Given the description of an element on the screen output the (x, y) to click on. 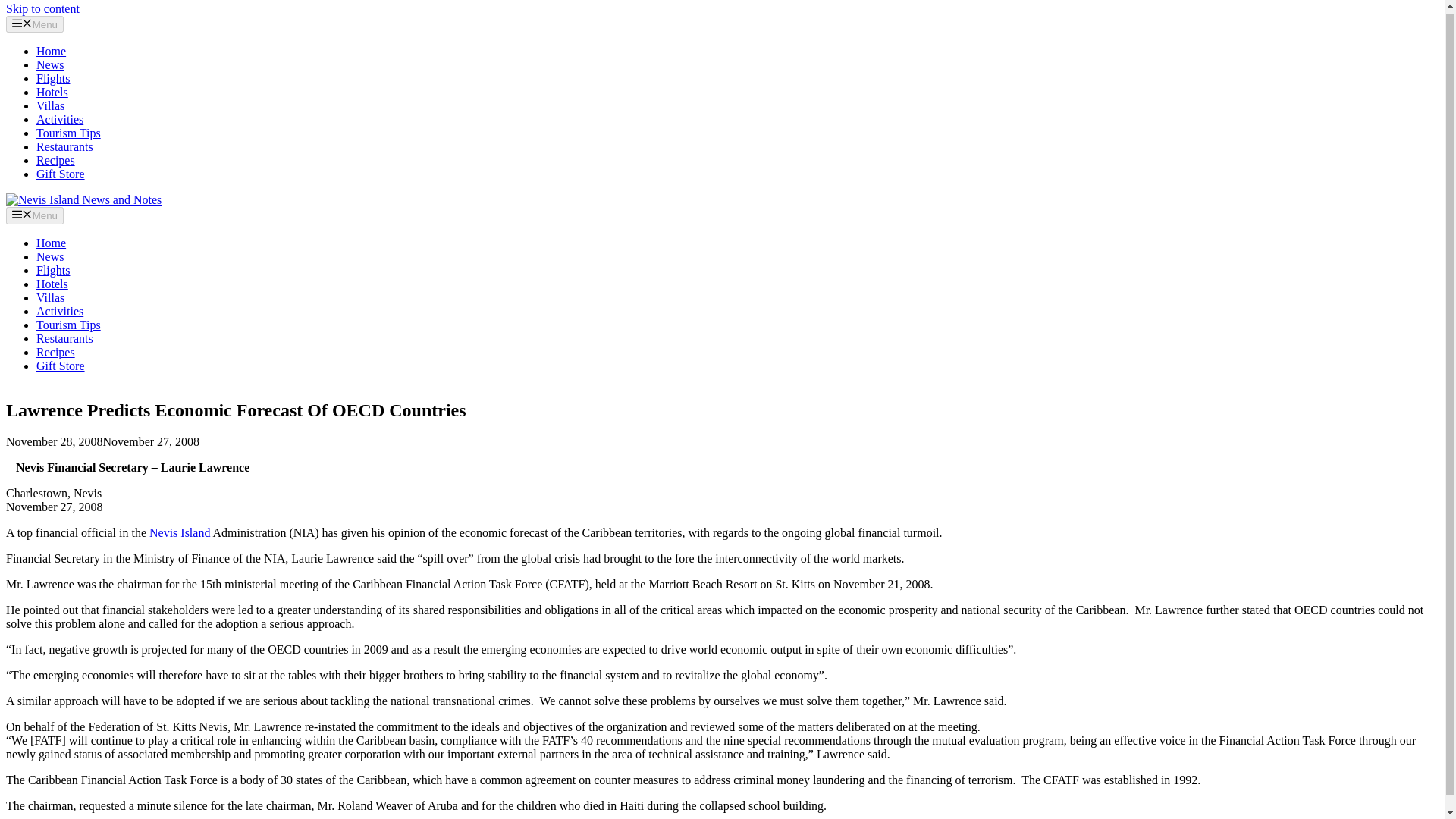
Nevis Villa Rentals (50, 105)
Tourism Tips (68, 132)
Nevis Island News and Notes (83, 199)
Gift Store (60, 365)
Luxury Nevis Hotels (52, 283)
Flights (52, 78)
Nevis Flight Information (52, 269)
Nevis Flight Information (52, 78)
News (50, 256)
Nevis News (50, 64)
News (50, 64)
Nevis Activities and Events Calendar (59, 310)
Home (50, 51)
Skip to content (42, 8)
Villas (50, 105)
